Given the description of an element on the screen output the (x, y) to click on. 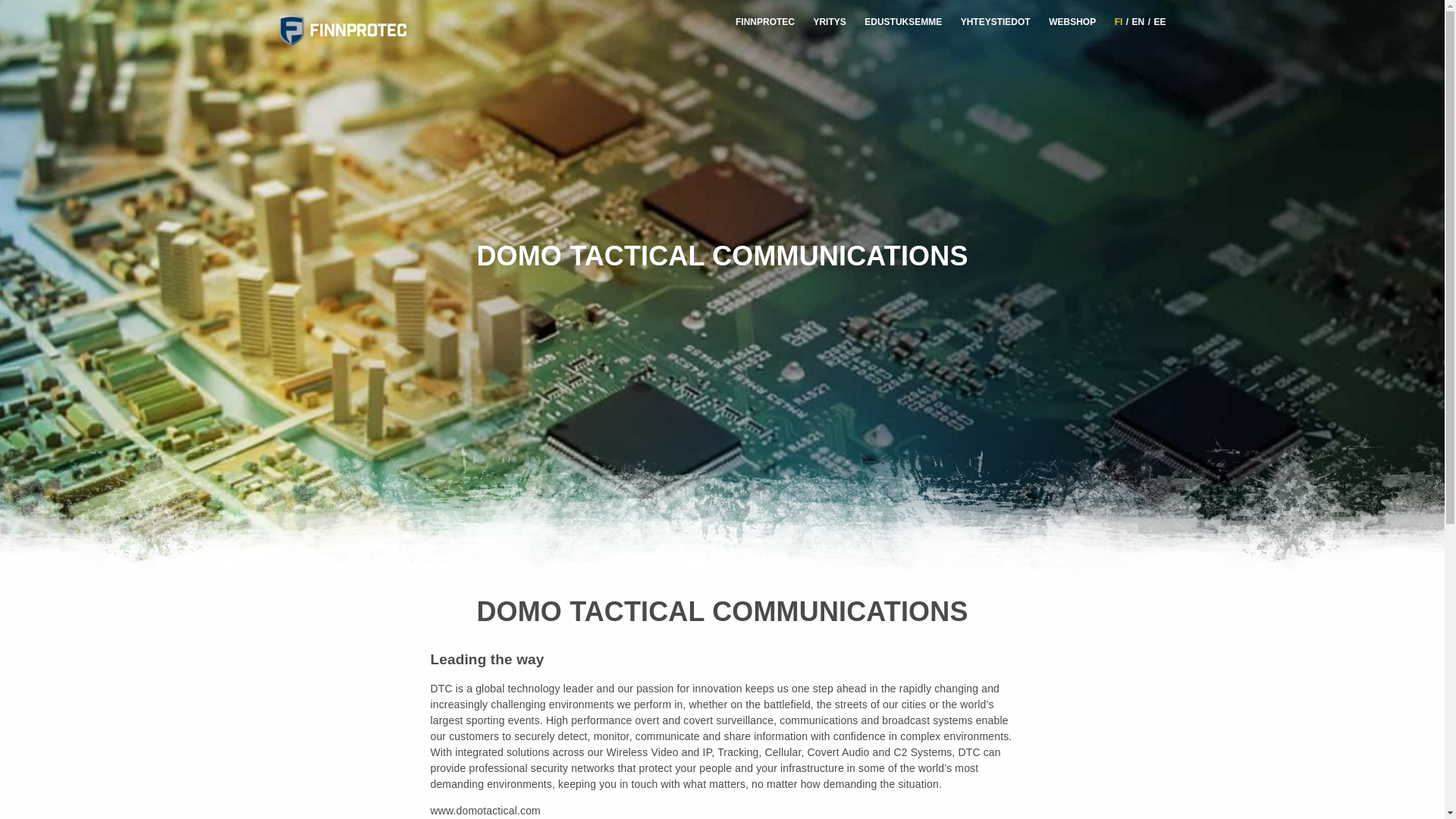
YHTEYSTIEDOT (995, 21)
WEBSHOP (1072, 21)
EE (1159, 21)
Finnprotec (362, 30)
EN (1138, 21)
FINNPROTEC (764, 21)
EDUSTUKSEMME (903, 21)
YRITYS (828, 21)
